Given the description of an element on the screen output the (x, y) to click on. 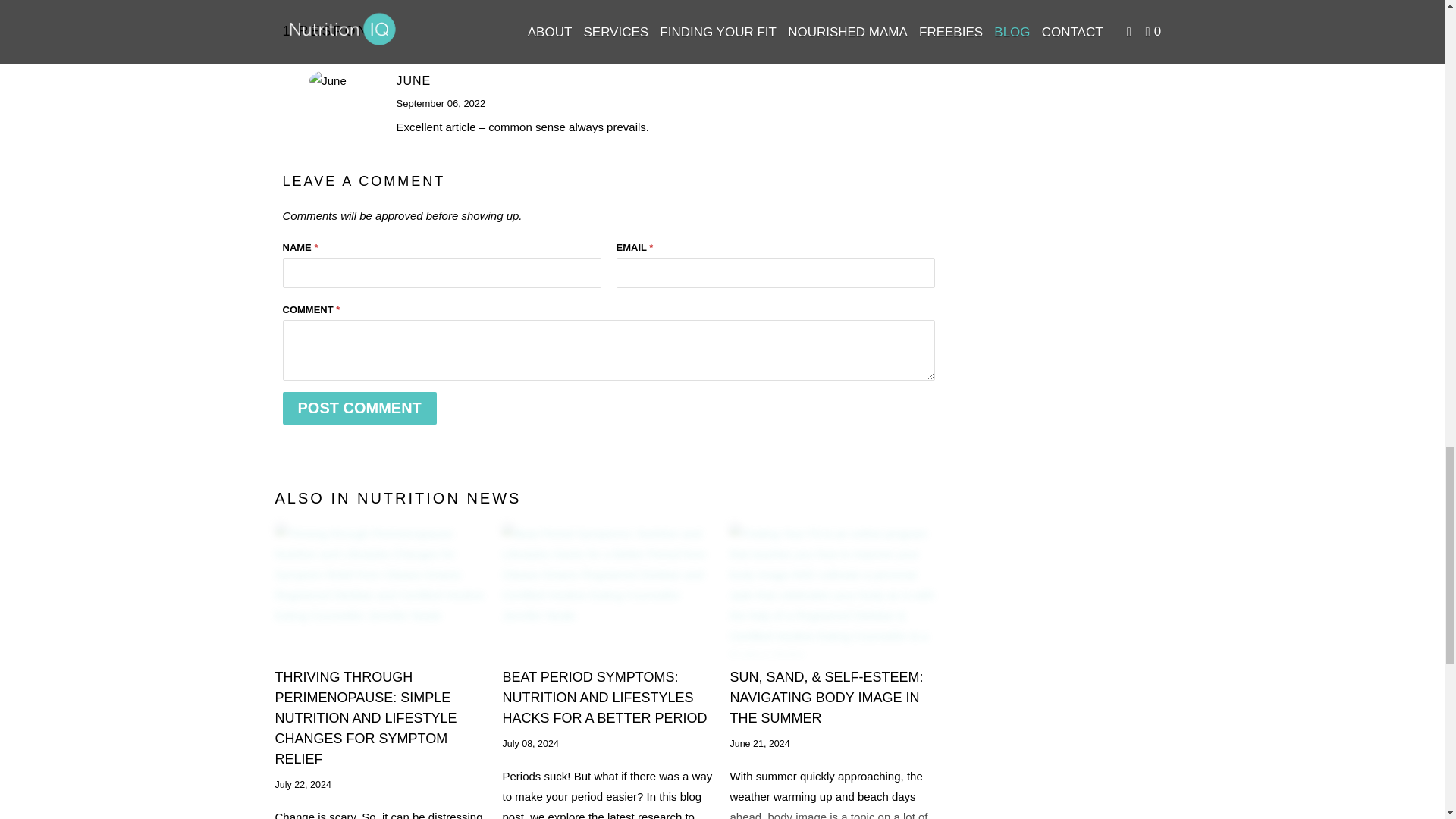
Post comment (358, 408)
Post comment (358, 408)
